Given the description of an element on the screen output the (x, y) to click on. 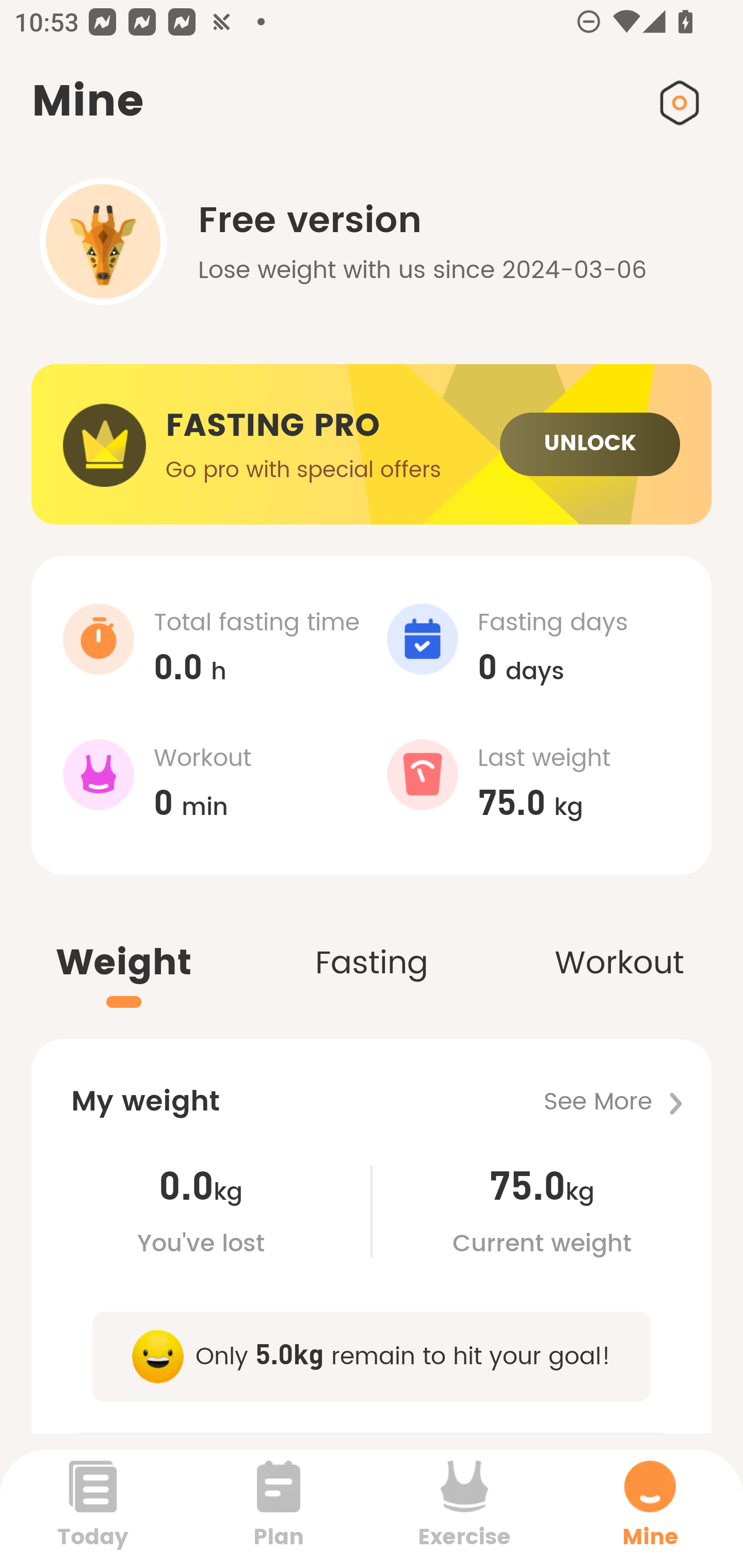
FASTING PRO Go pro with special offers UNLOCK (371, 444)
Fasting (371, 941)
Workout (619, 941)
See More (627, 1101)
Today (92, 1508)
Plan (278, 1508)
Exercise (464, 1508)
